Given the description of an element on the screen output the (x, y) to click on. 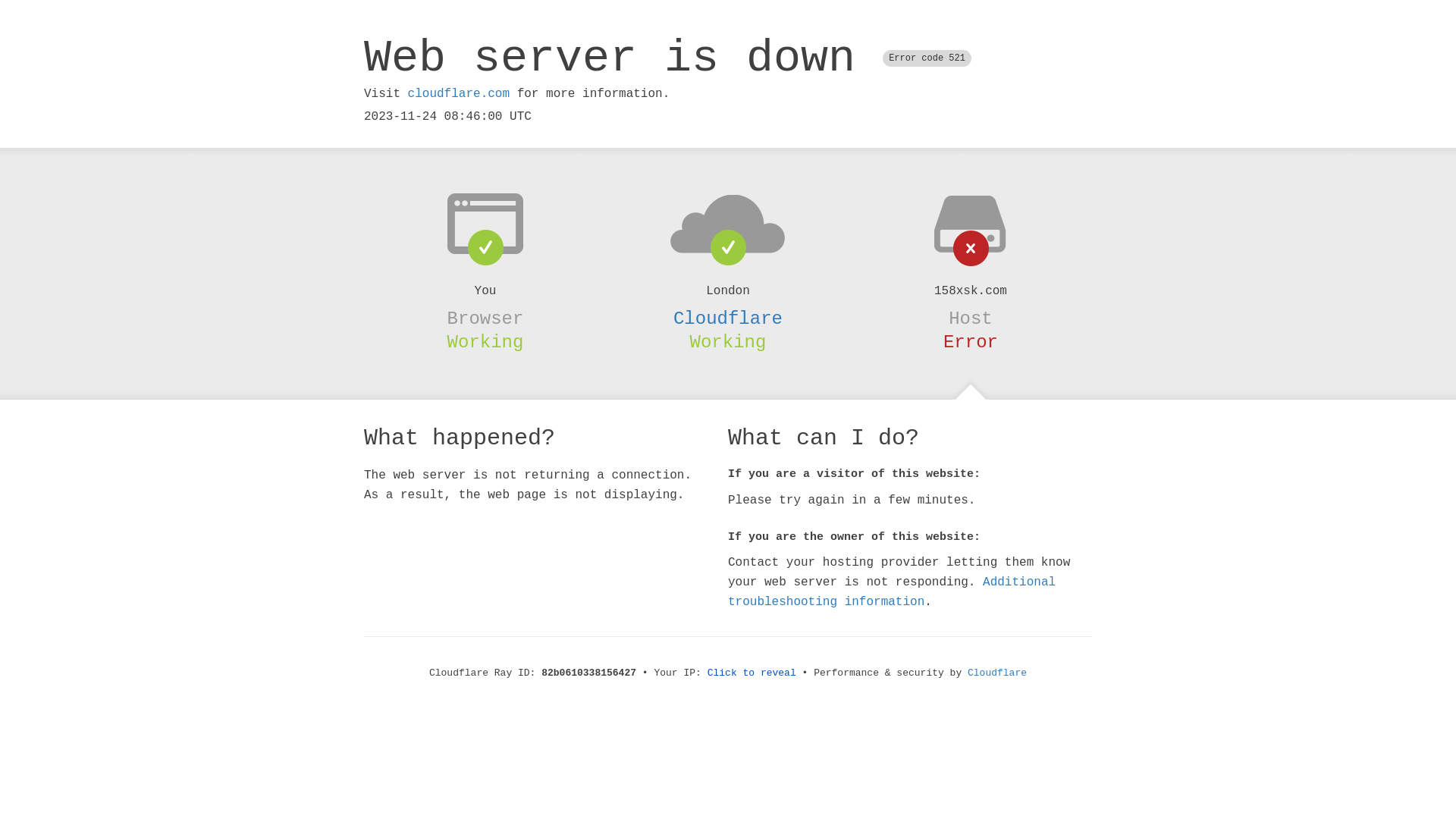
Cloudflare Element type: text (996, 672)
cloudflare.com Element type: text (458, 93)
Cloudflare Element type: text (727, 318)
Additional troubleshooting information Element type: text (891, 591)
Click to reveal Element type: text (751, 672)
